Given the description of an element on the screen output the (x, y) to click on. 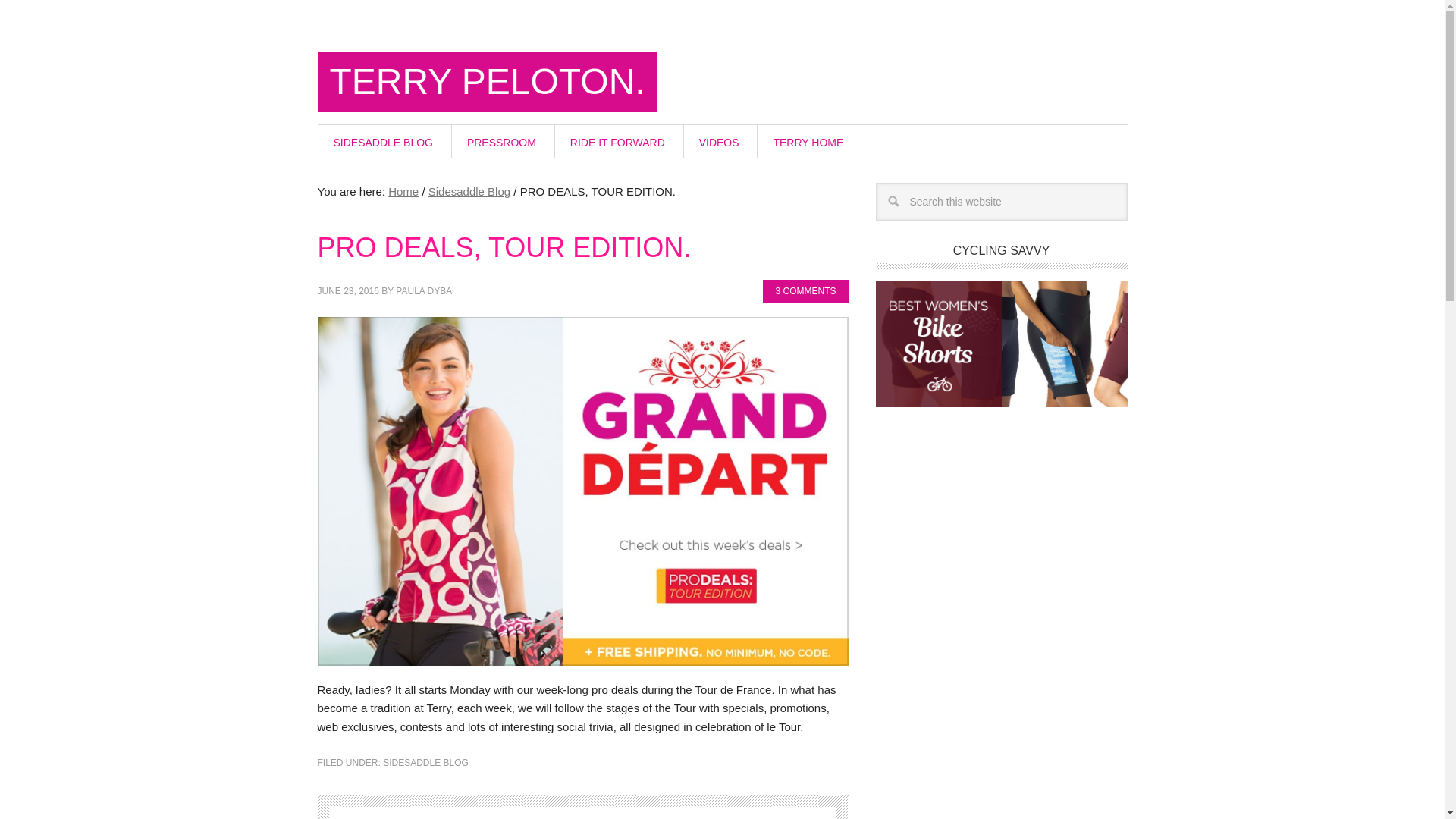
PRESSROOM (501, 141)
PAULA DYBA (423, 290)
SIDESADDLE BLOG (425, 762)
RIDE IT FORWARD (616, 141)
VIDEOS (719, 141)
Home (403, 191)
TERRY PELOTON. (486, 81)
TERRY HOME (808, 141)
